Given the description of an element on the screen output the (x, y) to click on. 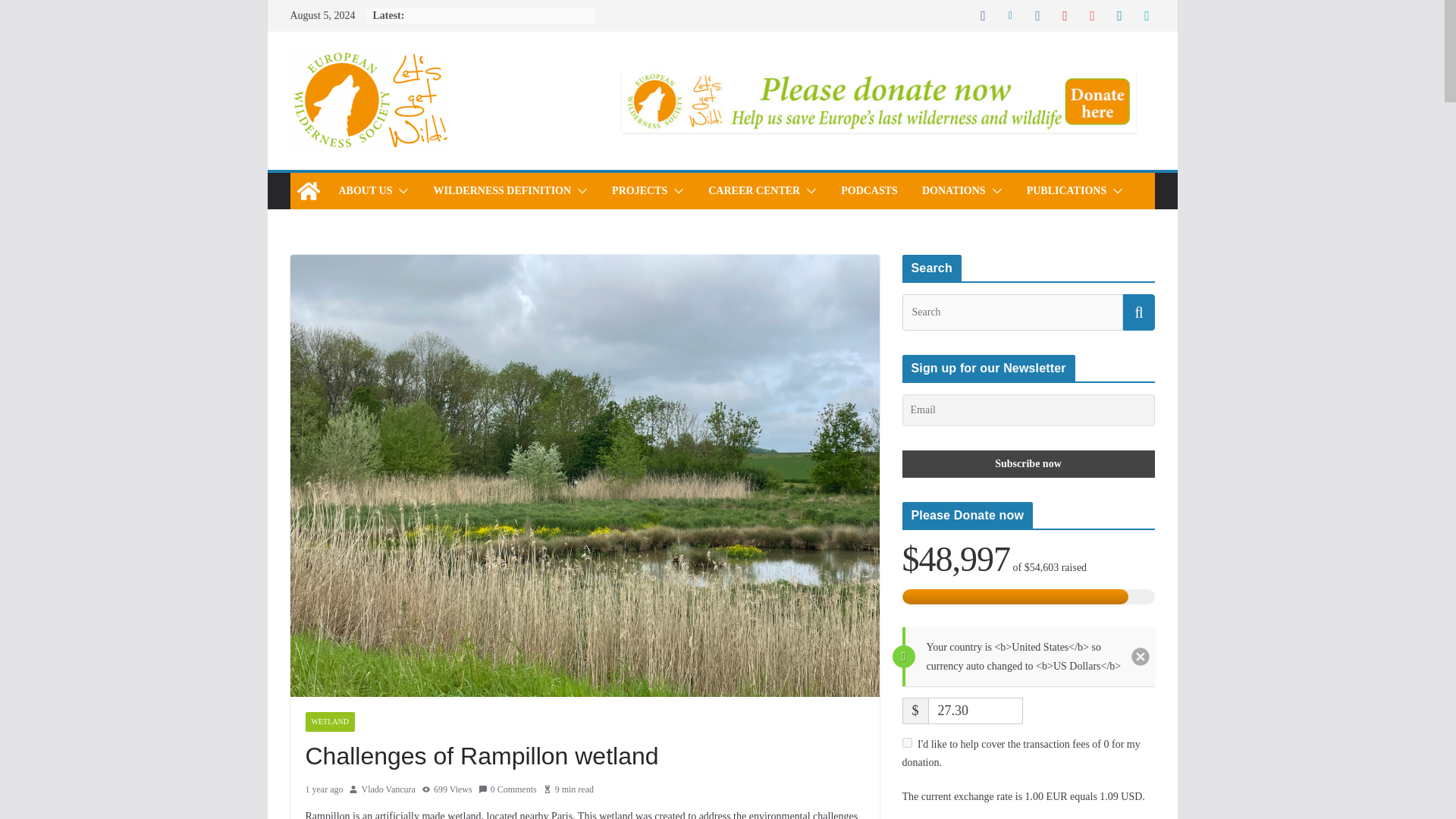
ABOUT US (364, 190)
27.30 (975, 710)
Vlado Vancura (387, 790)
1 (907, 742)
Subscribe now (1028, 463)
European Wilderness Society (307, 190)
